Given the description of an element on the screen output the (x, y) to click on. 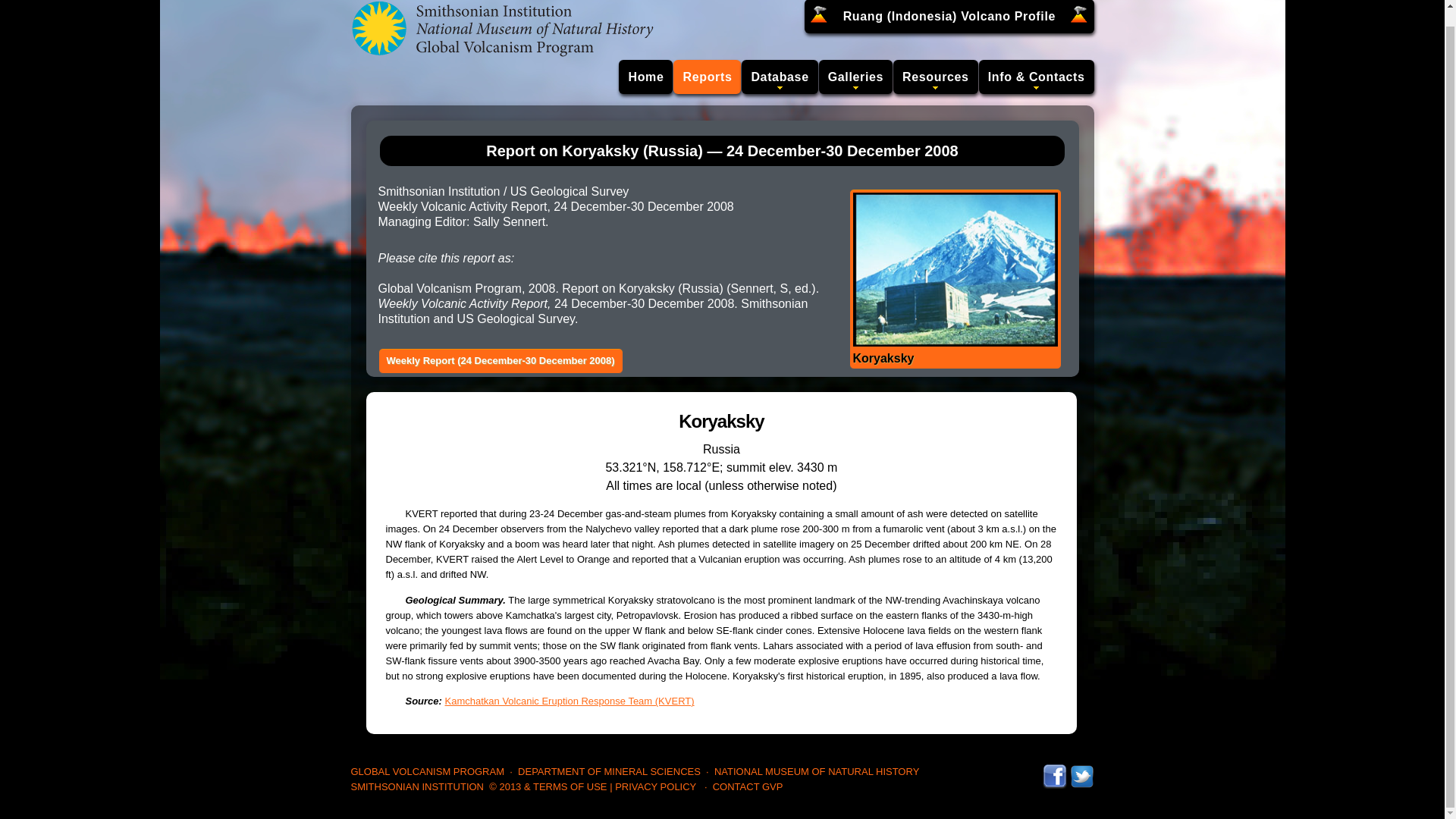
Link to Privacy Notice (654, 786)
Database (778, 76)
Galleries (855, 76)
Link to Copyright Notice and Terms of Use (548, 786)
Reports (706, 76)
Send email to GVP (748, 786)
Resources (935, 76)
Koryaksky (954, 278)
Facebook (1054, 771)
Home (645, 76)
